Given the description of an element on the screen output the (x, y) to click on. 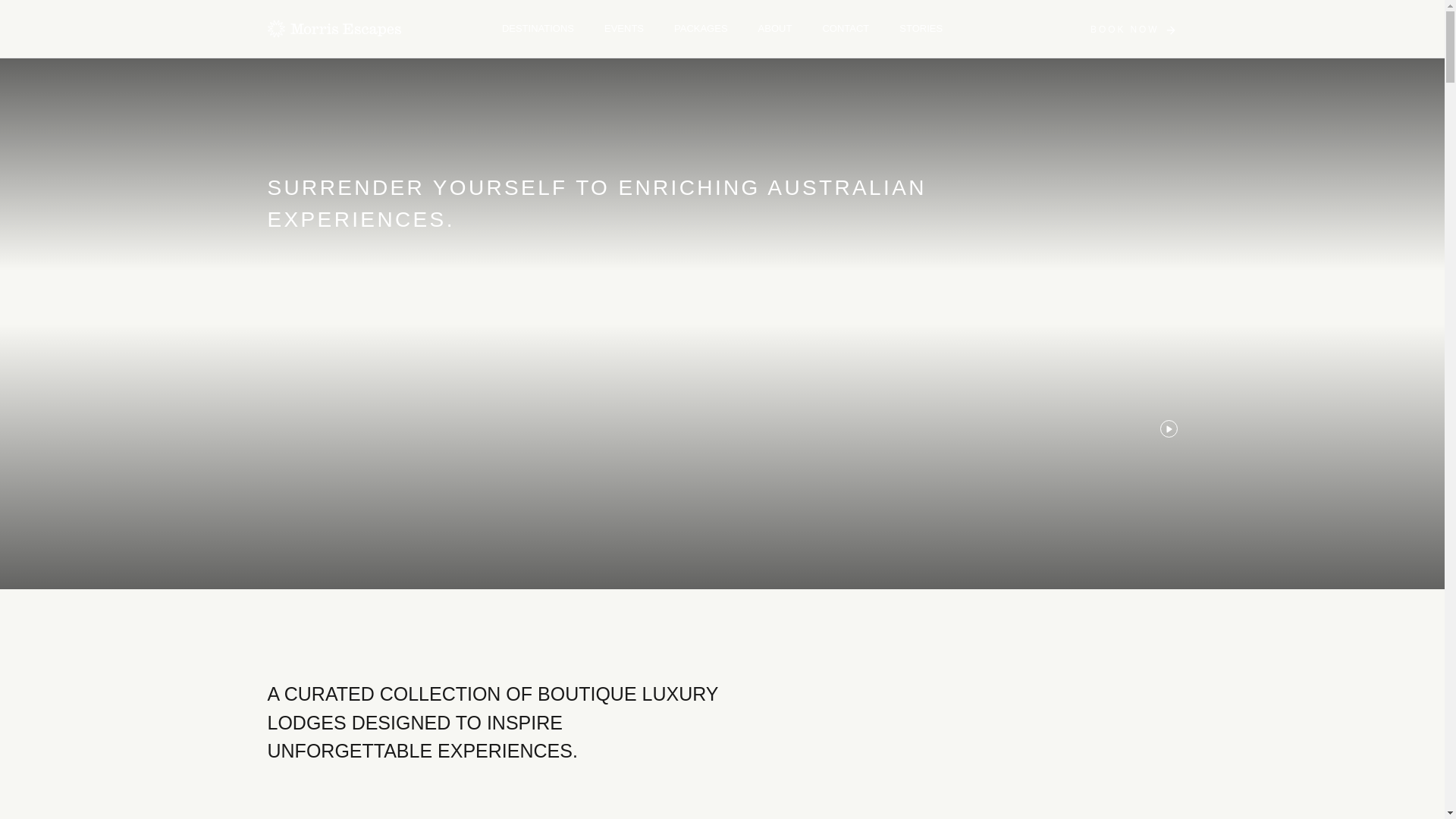
STORIES (920, 28)
DESTINATIONS (537, 28)
CONTACT (845, 28)
ABOUT (775, 28)
EVENTS (623, 28)
BOOK NOW (1133, 29)
PACKAGES (701, 28)
